Given the description of an element on the screen output the (x, y) to click on. 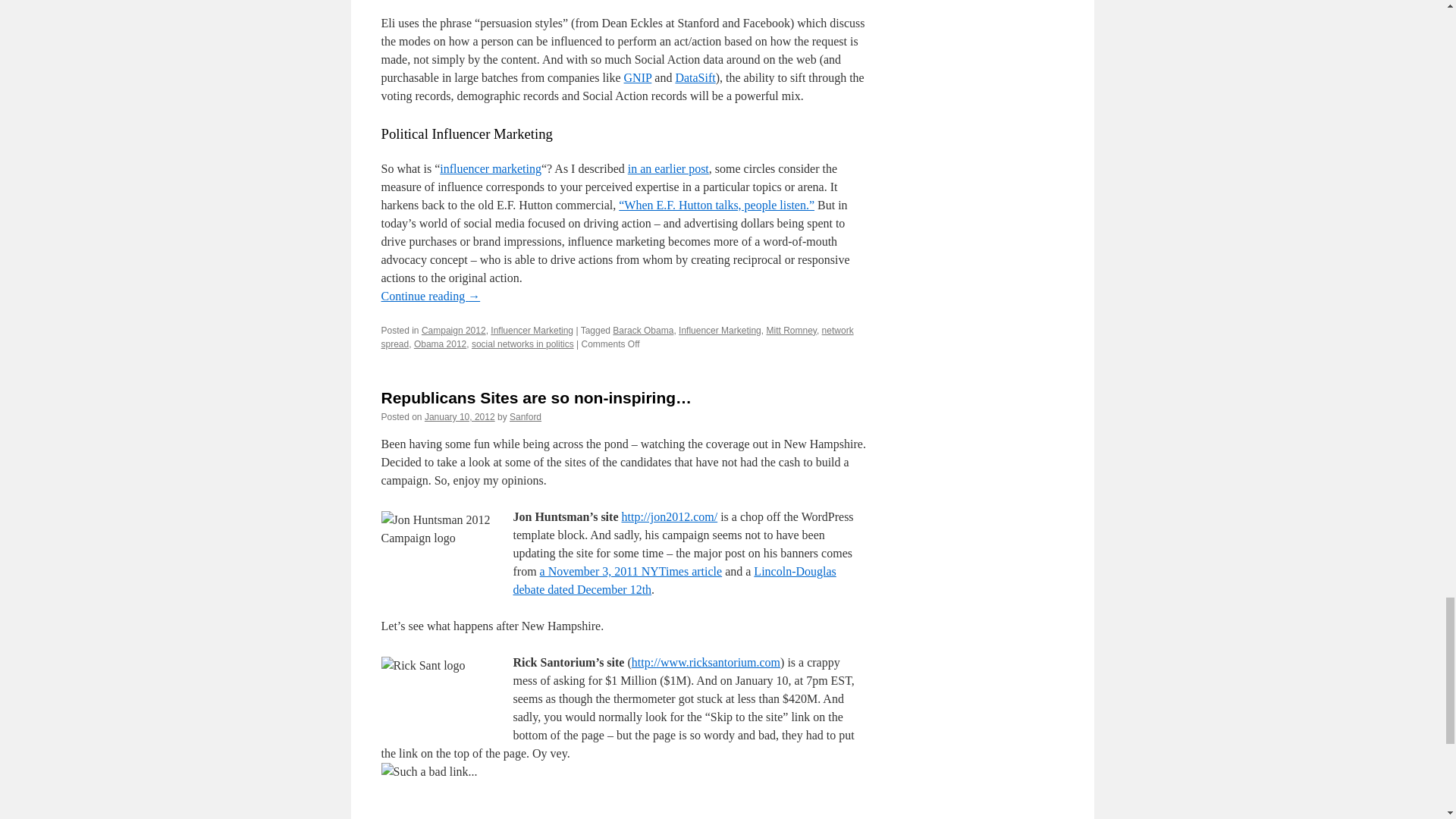
8:29 pm (460, 416)
Rick Sant logo (437, 695)
View all posts by Sanford (525, 416)
Continue to Rick (623, 780)
Jon Huntsman 2012 Campaign logo (437, 546)
